Given the description of an element on the screen output the (x, y) to click on. 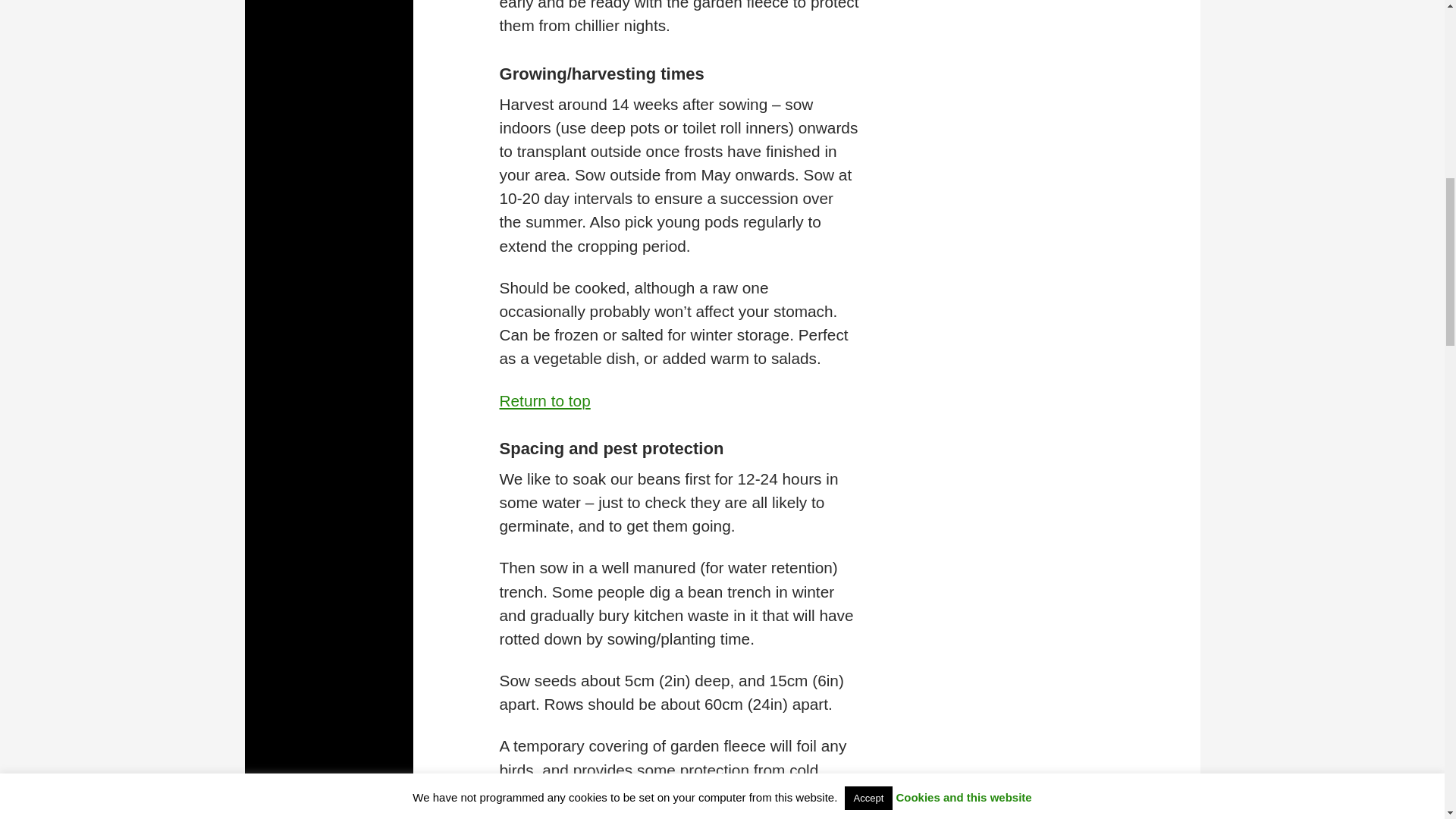
Return to top (545, 400)
